Given the description of an element on the screen output the (x, y) to click on. 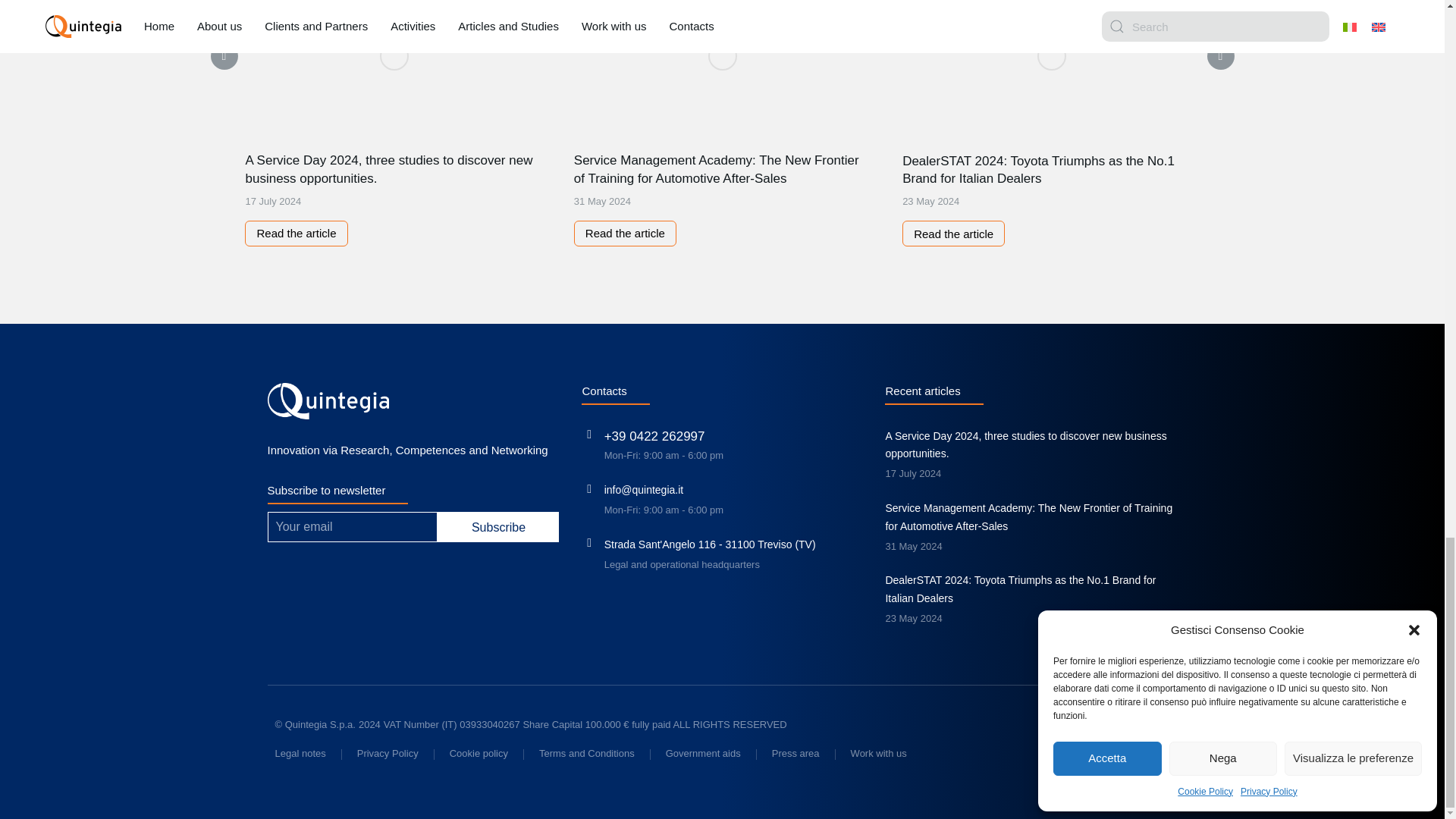
Subscribe (498, 526)
